Given the description of an element on the screen output the (x, y) to click on. 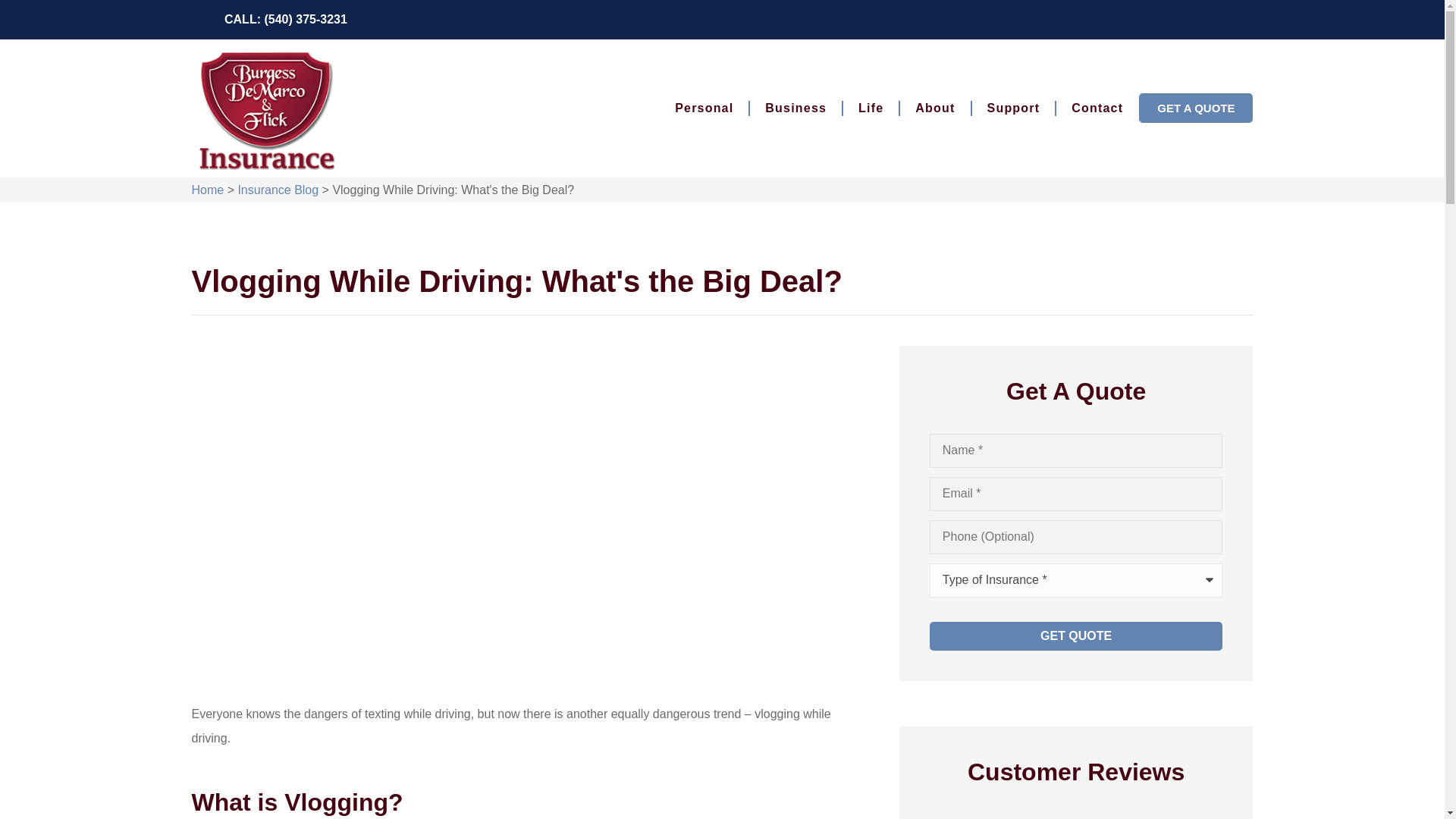
About (934, 108)
Contact (1097, 108)
logo1 (264, 107)
Get Quote (1076, 635)
Personal (703, 108)
Business (795, 108)
Support (1013, 108)
Life (870, 108)
